Given the description of an element on the screen output the (x, y) to click on. 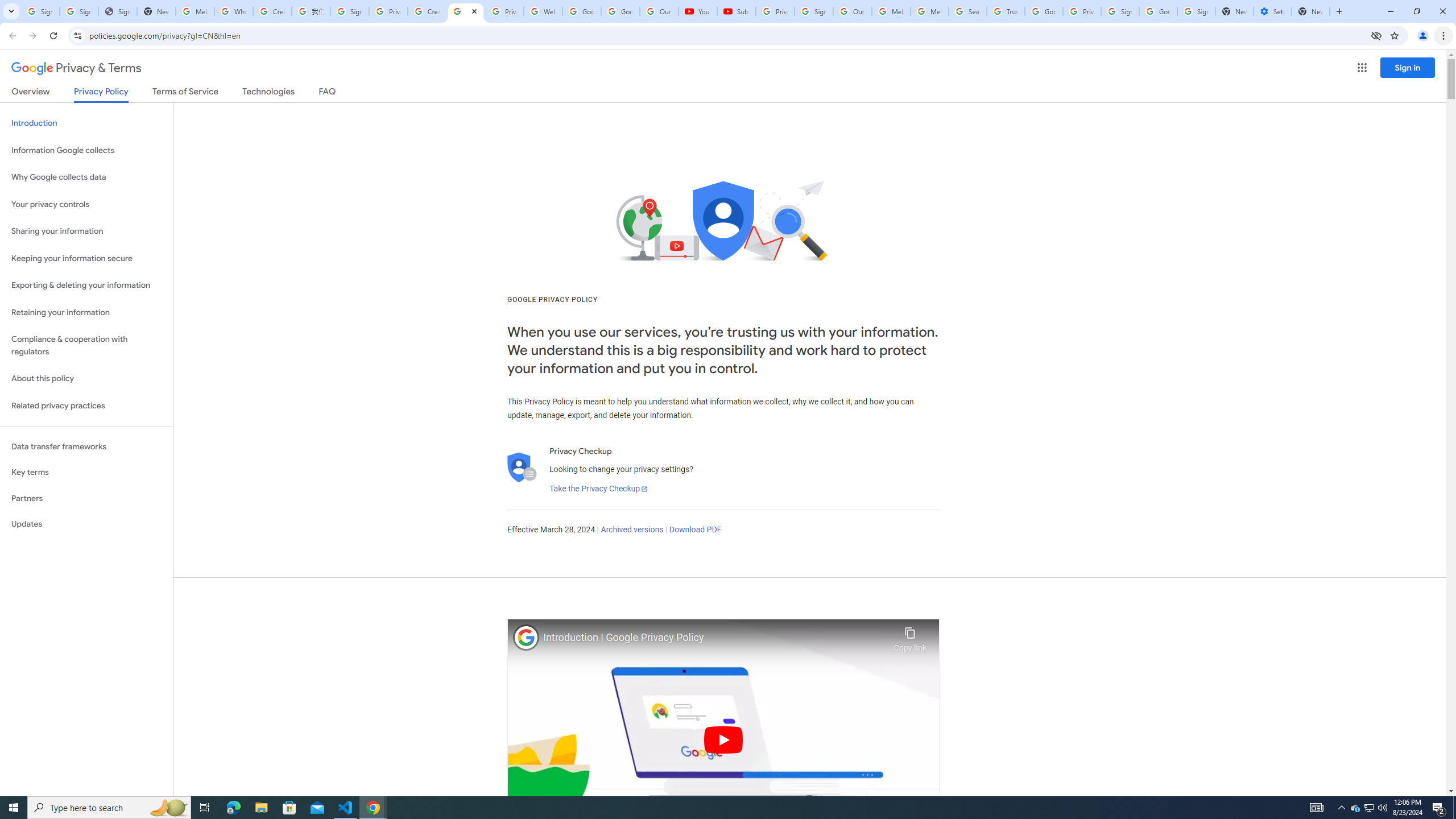
Create your Google Account (427, 11)
Take the Privacy Checkup (597, 488)
Who is my administrator? - Google Account Help (233, 11)
Google Account (620, 11)
Welcome to My Activity (542, 11)
Introduction | Google Privacy Policy (715, 637)
Photo image of Google (526, 636)
Google Ads - Sign in (1043, 11)
New Tab (1311, 11)
